Given the description of an element on the screen output the (x, y) to click on. 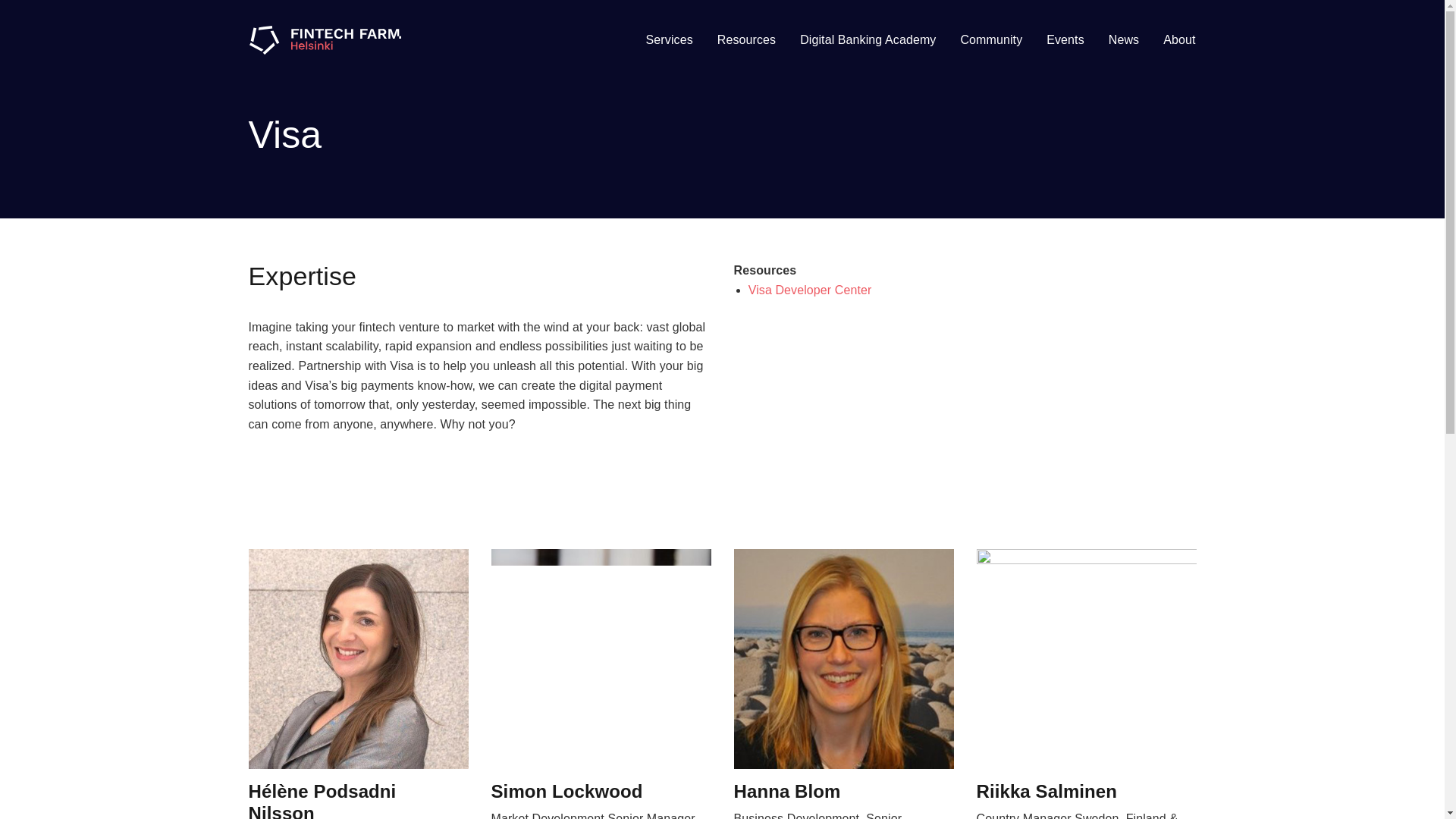
Services (668, 40)
Visa Developer Center (810, 289)
Community (990, 40)
About (1179, 40)
Resources (745, 40)
News (1123, 40)
Digital Banking Academy (867, 40)
Events (1064, 40)
